Given the description of an element on the screen output the (x, y) to click on. 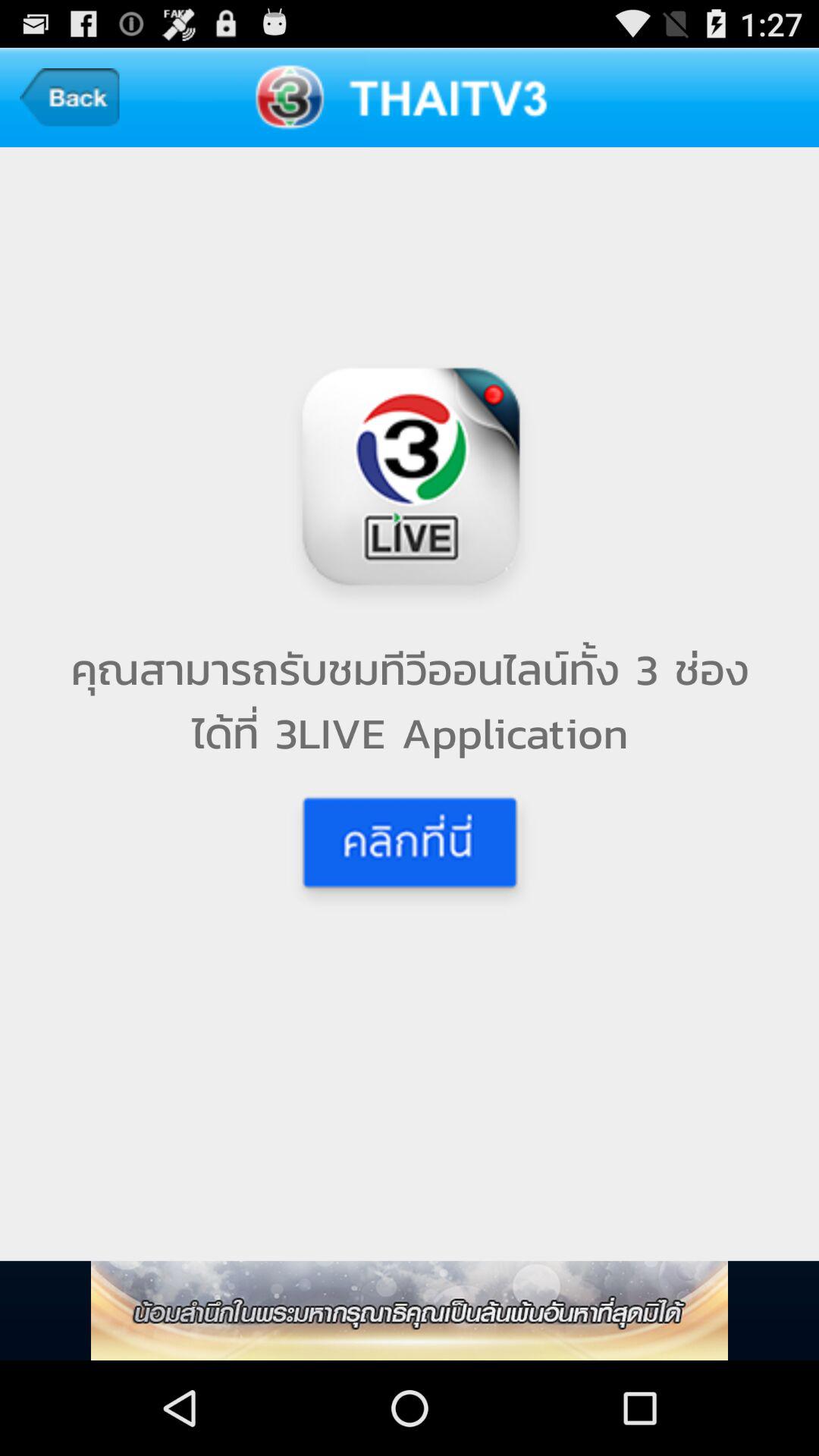
go back (69, 97)
